Given the description of an element on the screen output the (x, y) to click on. 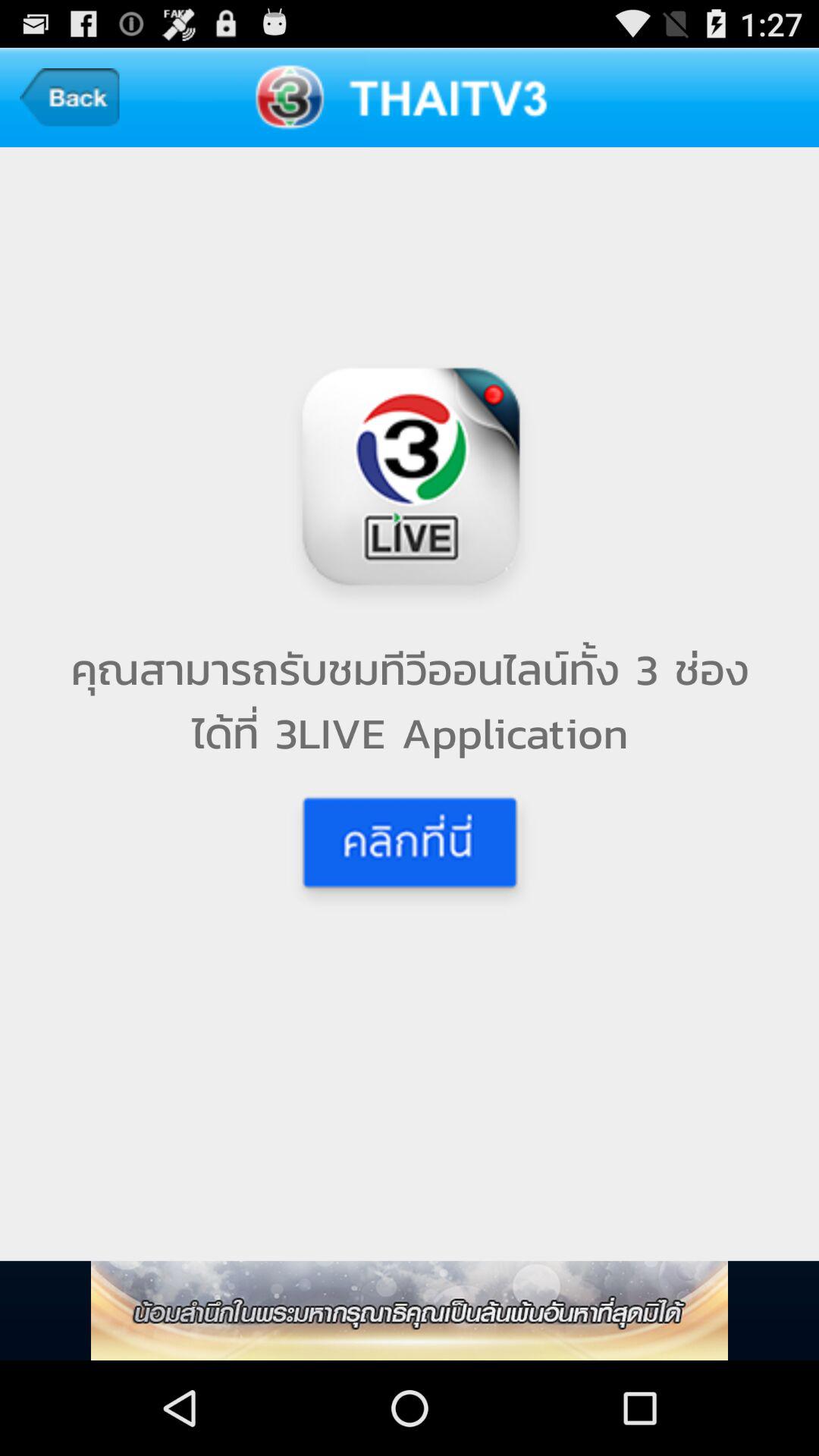
go back (69, 97)
